Given the description of an element on the screen output the (x, y) to click on. 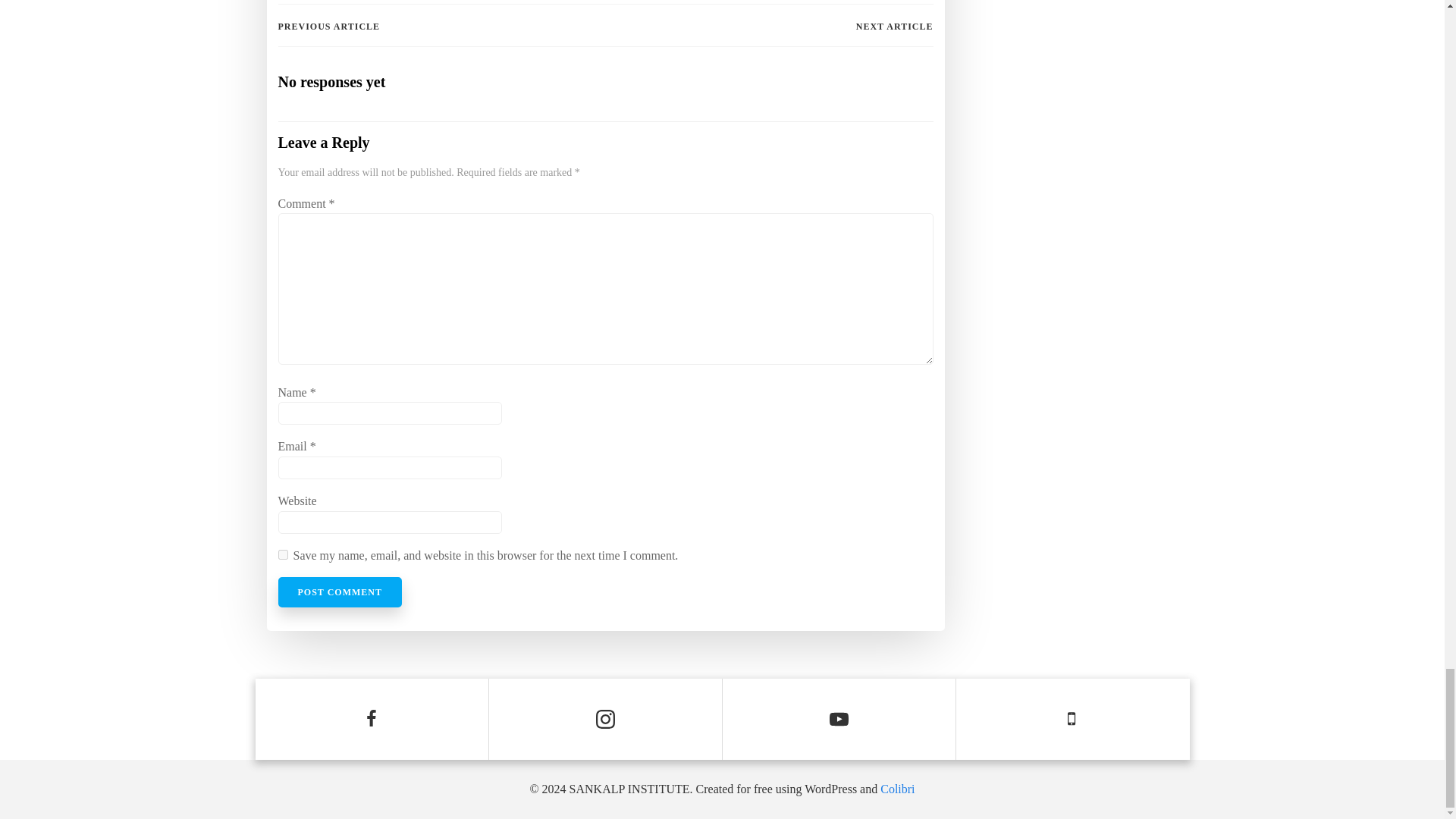
yes (282, 554)
PREVIOUS ARTICLE (329, 26)
Post Comment (339, 592)
Post Comment (339, 592)
NEXT ARTICLE (894, 26)
